Given the description of an element on the screen output the (x, y) to click on. 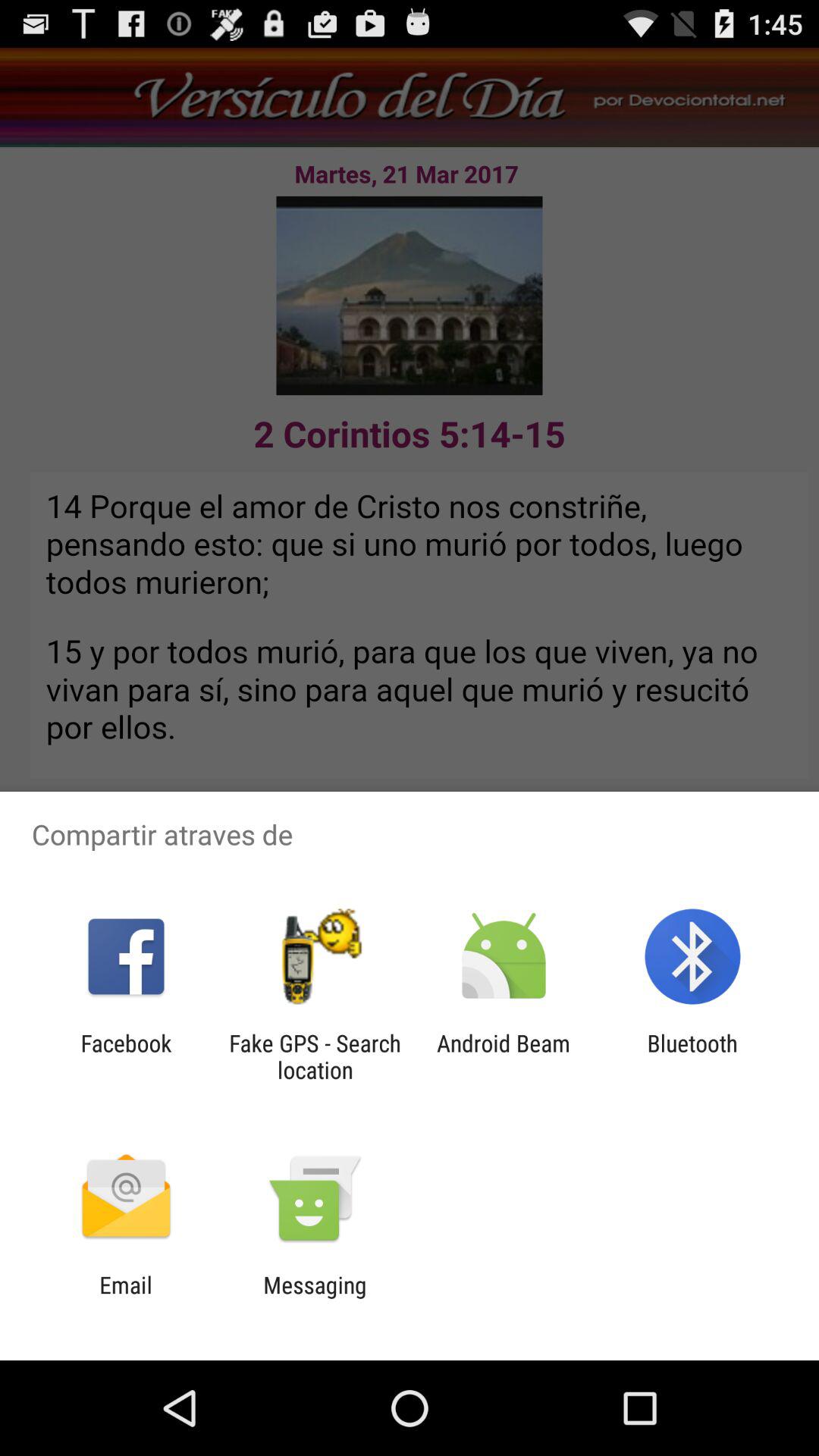
swipe to the email icon (125, 1298)
